Given the description of an element on the screen output the (x, y) to click on. 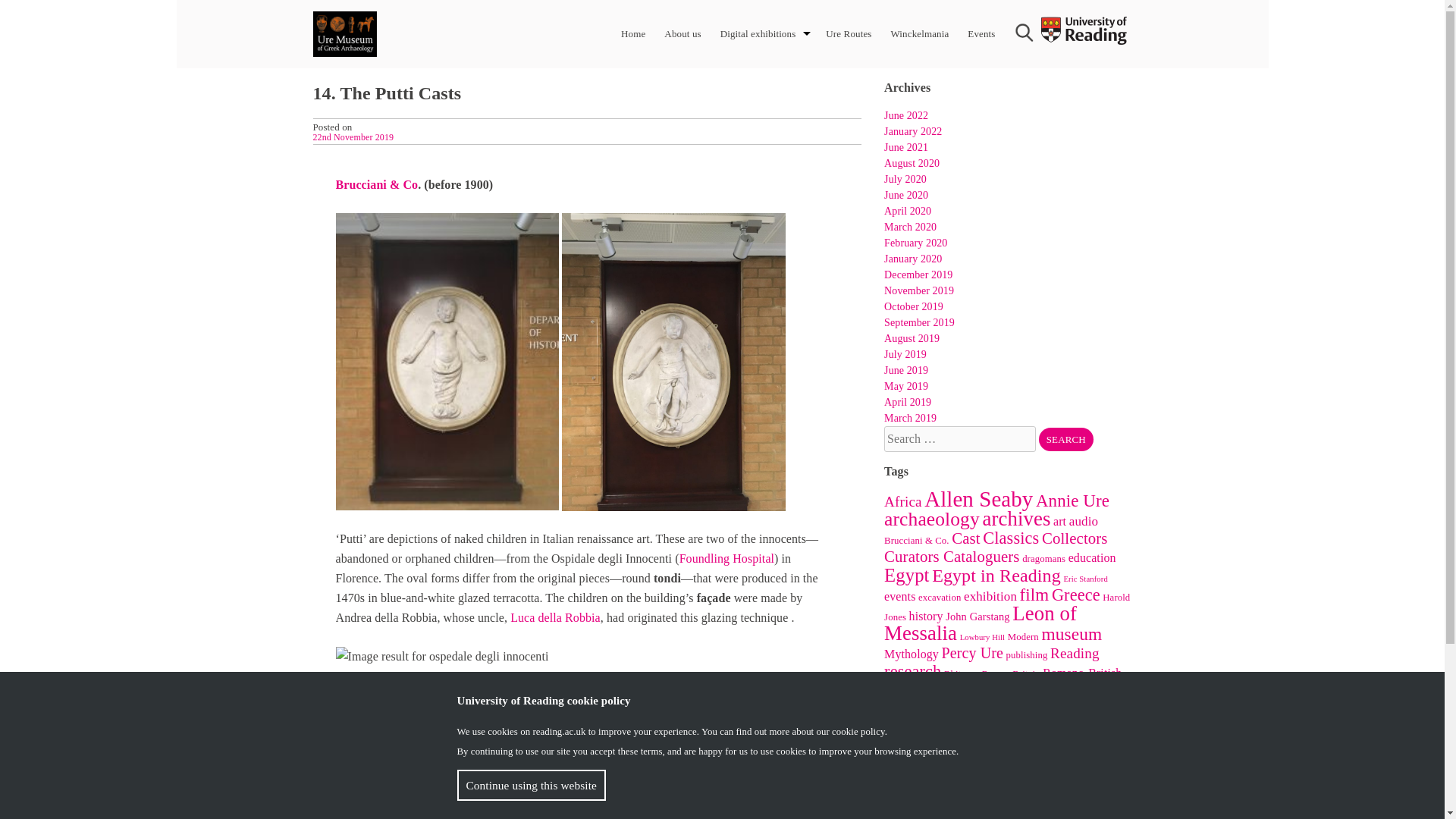
June 2021 (905, 147)
Foundling Hospital (726, 558)
Beyond the Ure (597, 788)
Luca della Robbia (555, 617)
August 2020 (911, 163)
Search (1066, 439)
Digital exhibitions (758, 33)
March 2020 (909, 226)
June 2020 (905, 194)
Click here (491, 750)
